Given the description of an element on the screen output the (x, y) to click on. 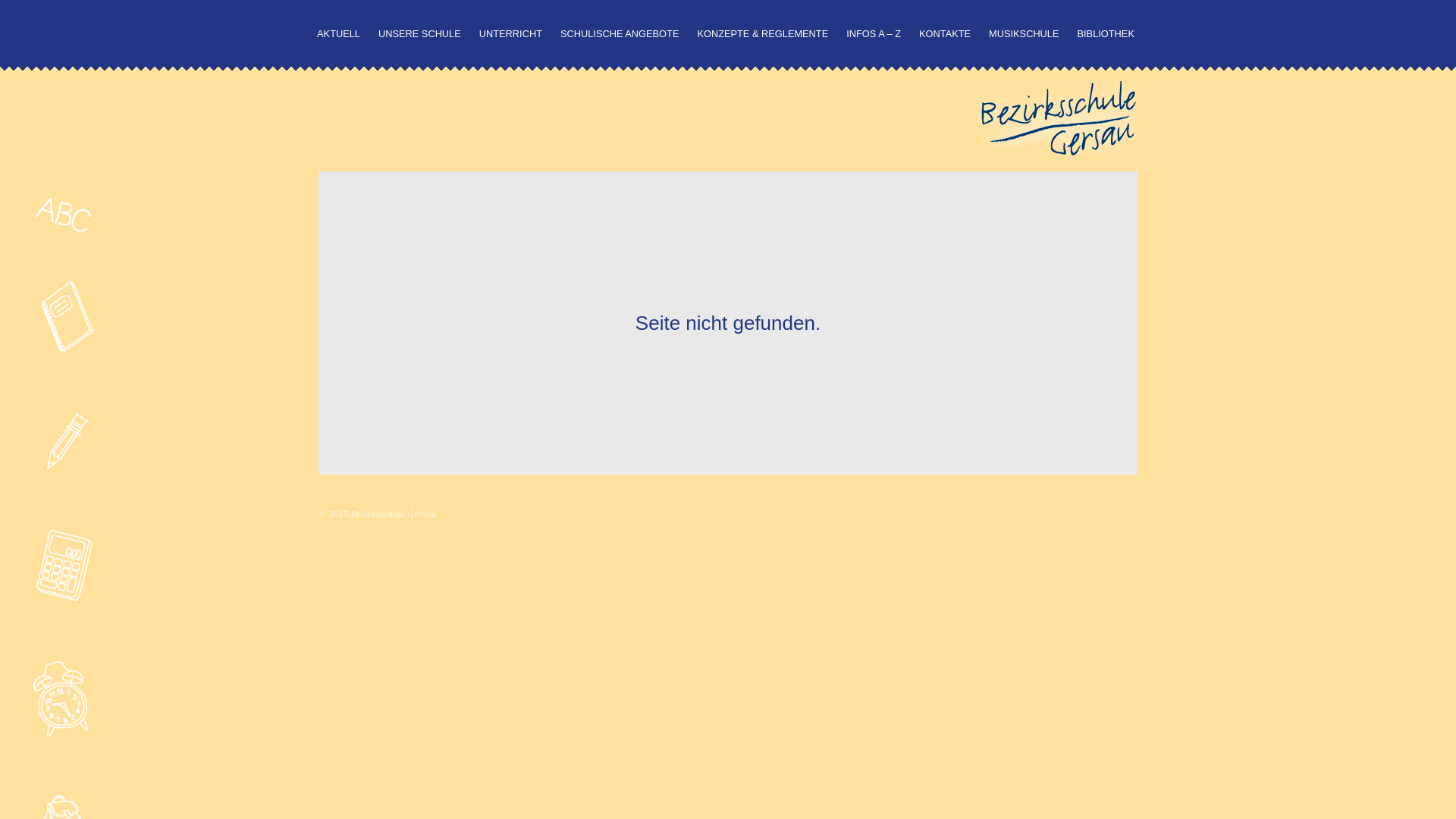
AKTUELL Element type: text (338, 33)
KONTAKTE Element type: text (944, 33)
UNSERE SCHULE Element type: text (419, 33)
MUSIKSCHULE Element type: text (1023, 33)
UNTERRICHT Element type: text (510, 33)
KONZEPTE & REGLEMENTE Element type: text (762, 33)
BIBLIOTHEK Element type: text (1105, 33)
SCHULISCHE ANGEBOTE Element type: text (619, 33)
